Given the description of an element on the screen output the (x, y) to click on. 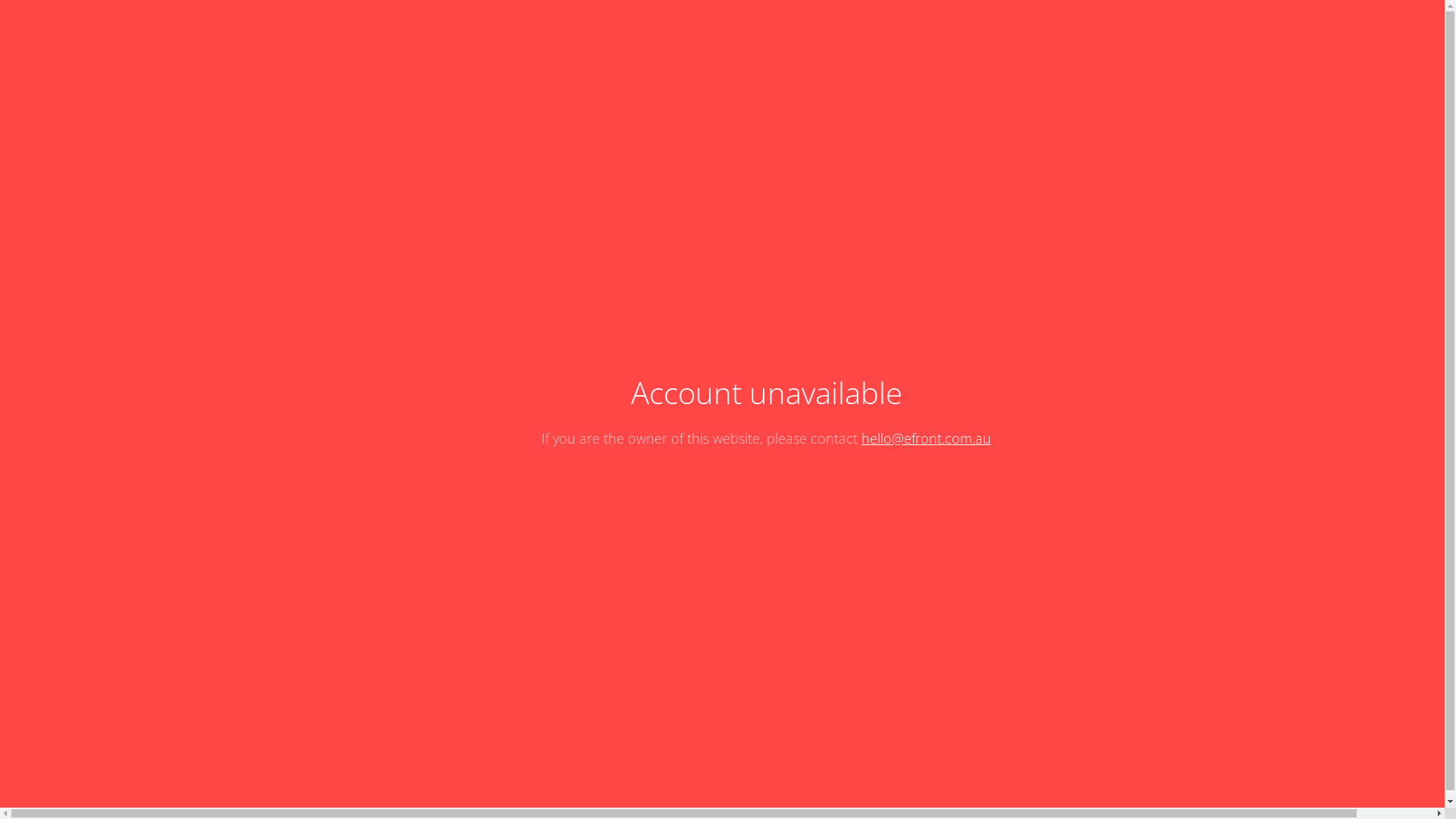
hello@efront.com.au Element type: text (926, 438)
